Given the description of an element on the screen output the (x, y) to click on. 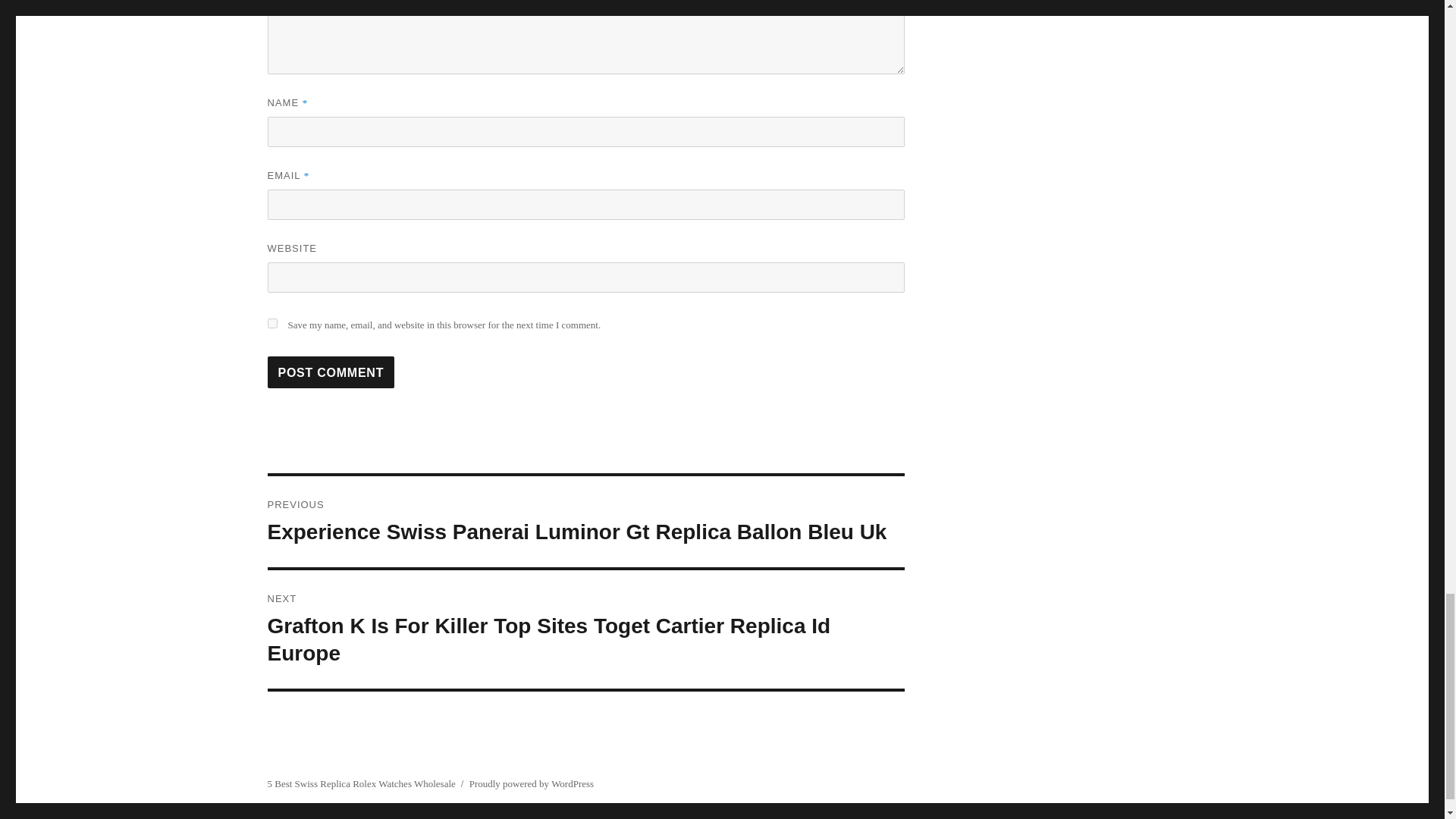
yes (271, 323)
Post Comment (330, 372)
Post Comment (330, 372)
